Given the description of an element on the screen output the (x, y) to click on. 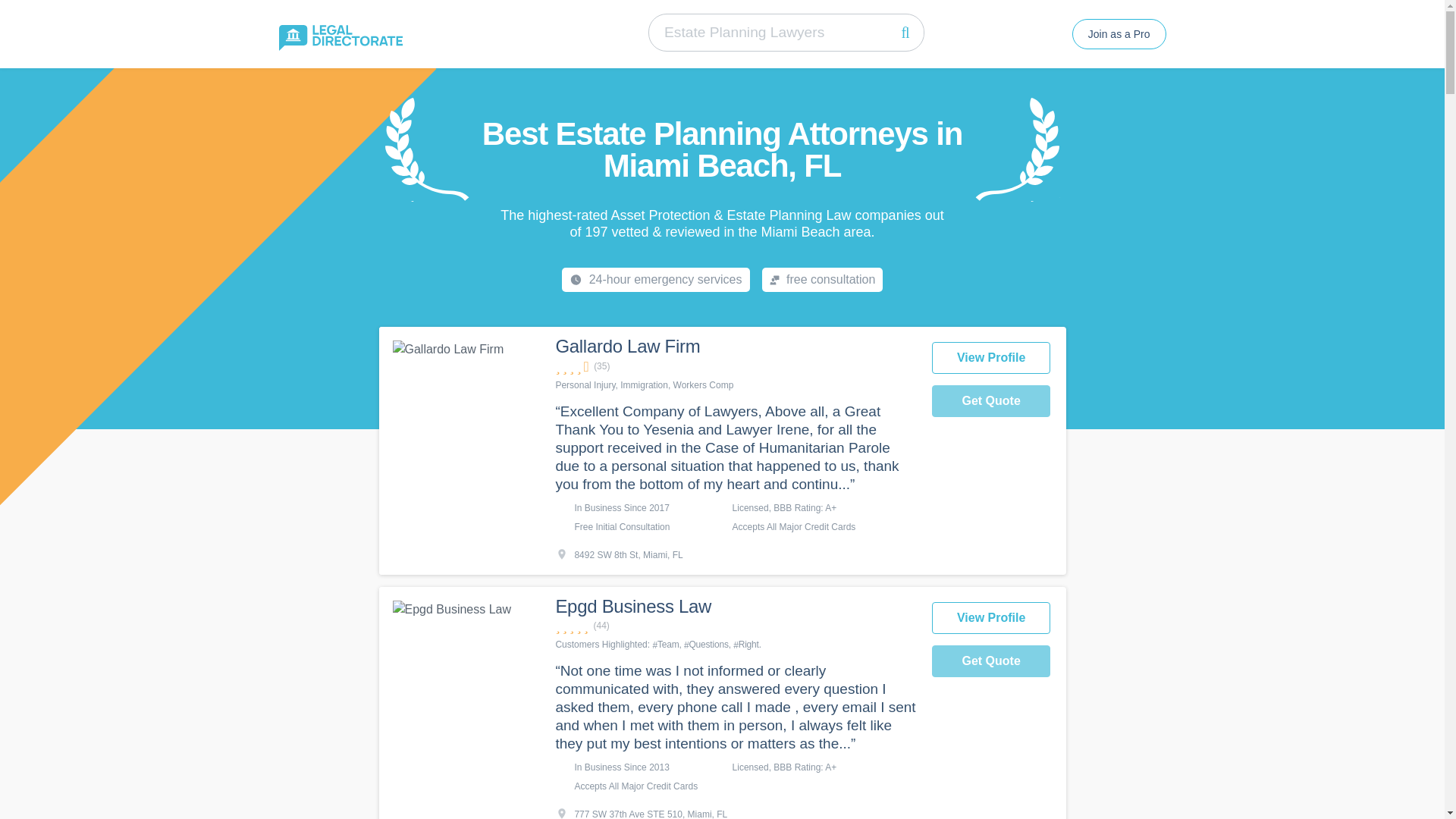
24-hour emergency services (655, 279)
4.9 (734, 626)
Get Quote (991, 661)
Search (905, 32)
Search (905, 32)
Get Quote (991, 400)
4.1 (734, 366)
free consultation (821, 279)
Join as a Pro (1118, 33)
Search (905, 32)
